Given the description of an element on the screen output the (x, y) to click on. 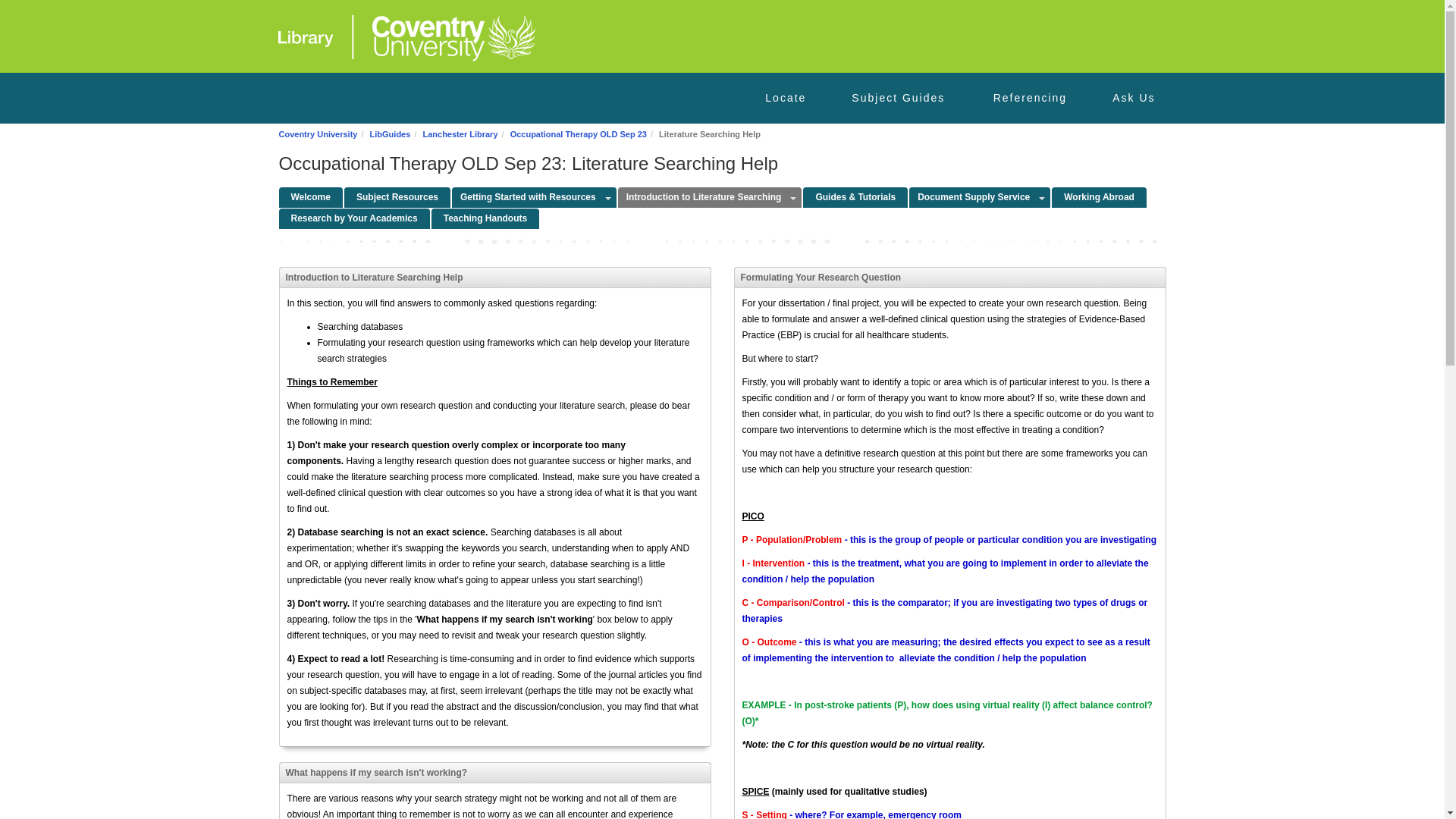
LibGuides (389, 133)
Coventry University (318, 133)
Occupational Therapy OLD Sep 23 (578, 133)
Ask Us (1133, 97)
Locate (785, 97)
Locate (785, 97)
Ask Us (1133, 97)
Subject Resources (396, 197)
Working Abroad (1099, 197)
Subject Guides (898, 97)
